Given the description of an element on the screen output the (x, y) to click on. 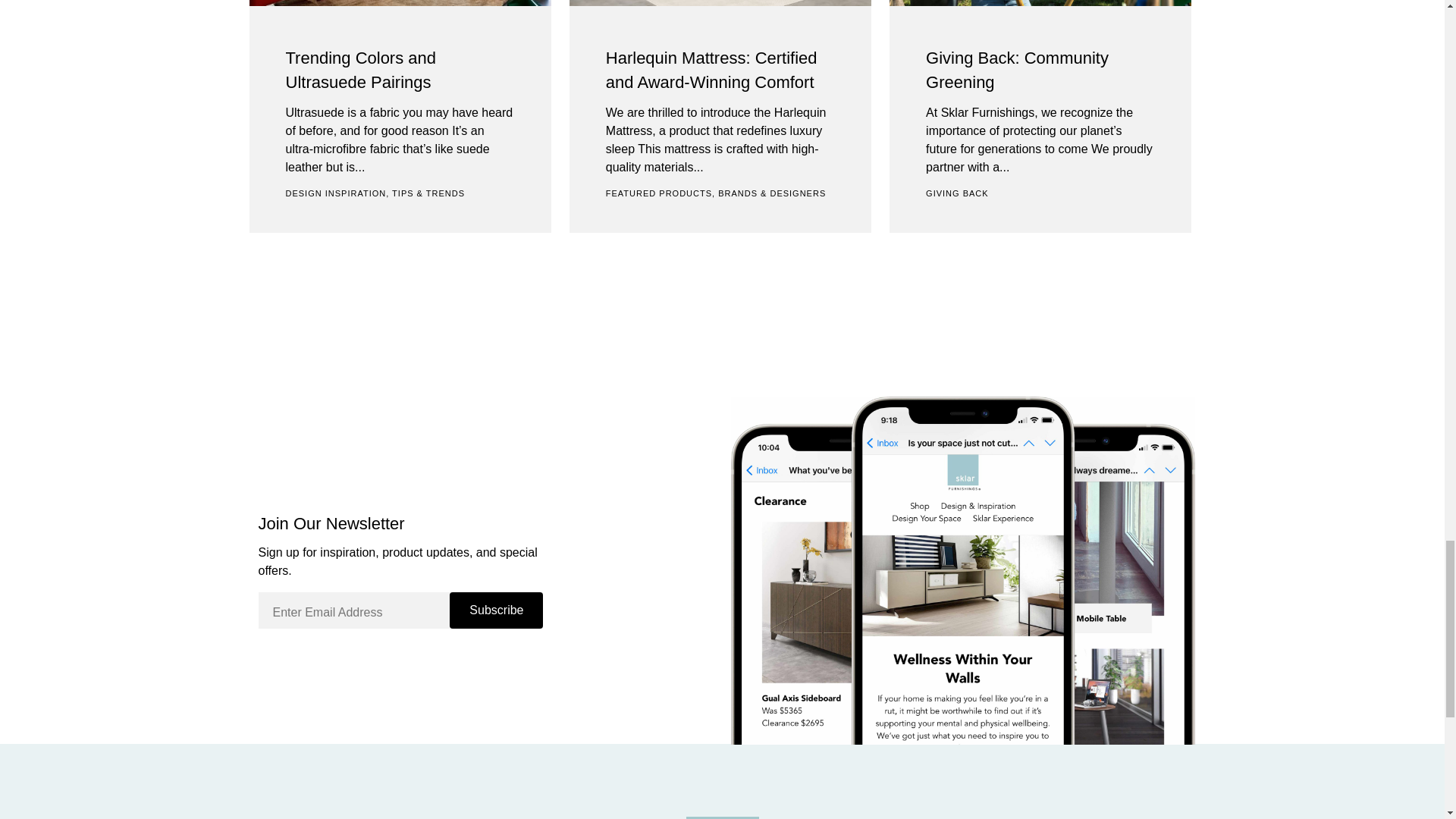
Subscribe (496, 610)
